Given the description of an element on the screen output the (x, y) to click on. 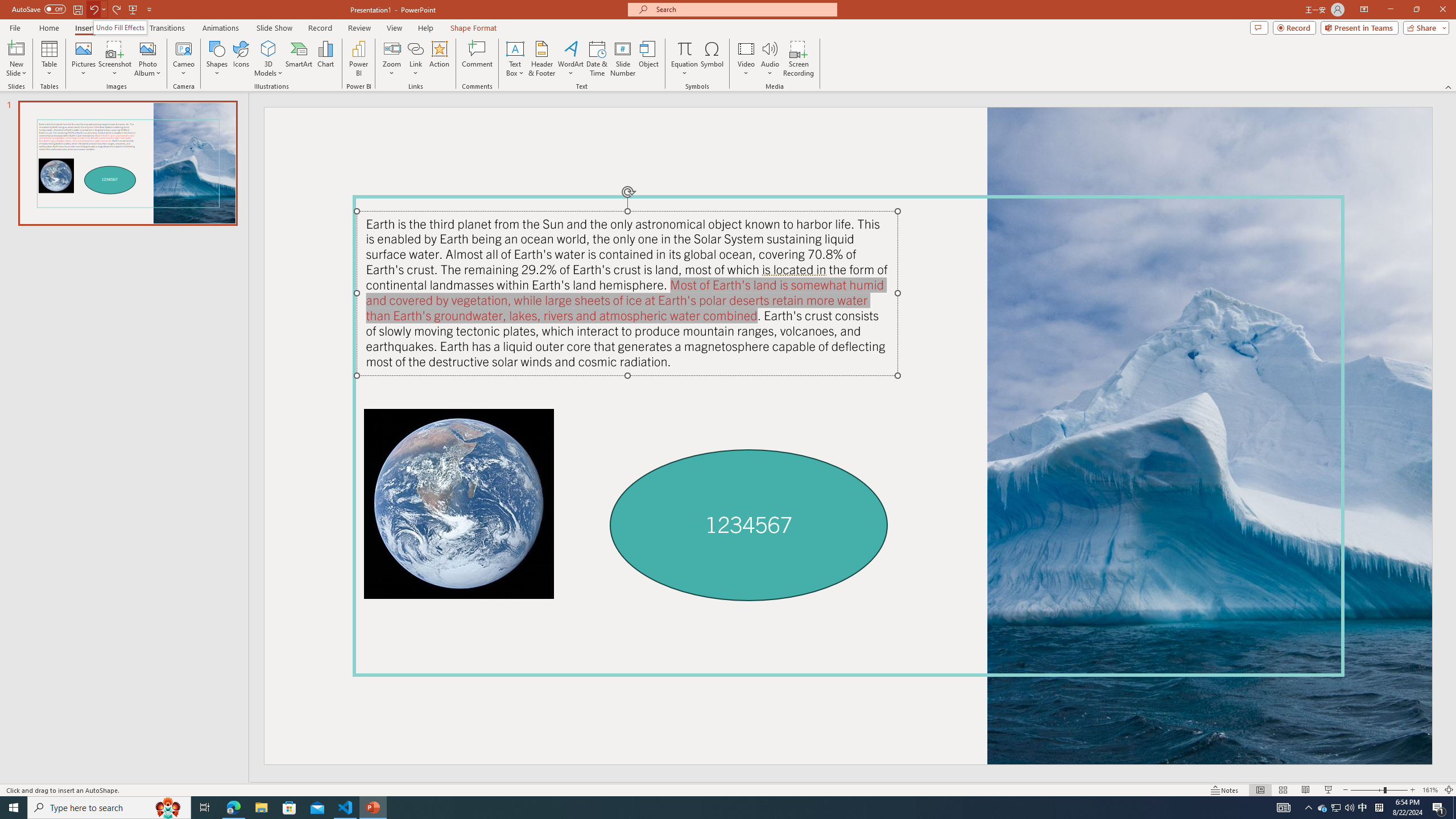
Video (745, 58)
Photo Album... (147, 58)
Slide Number (622, 58)
Zoom 161% (1430, 790)
New Photo Album... (147, 48)
